Given the description of an element on the screen output the (x, y) to click on. 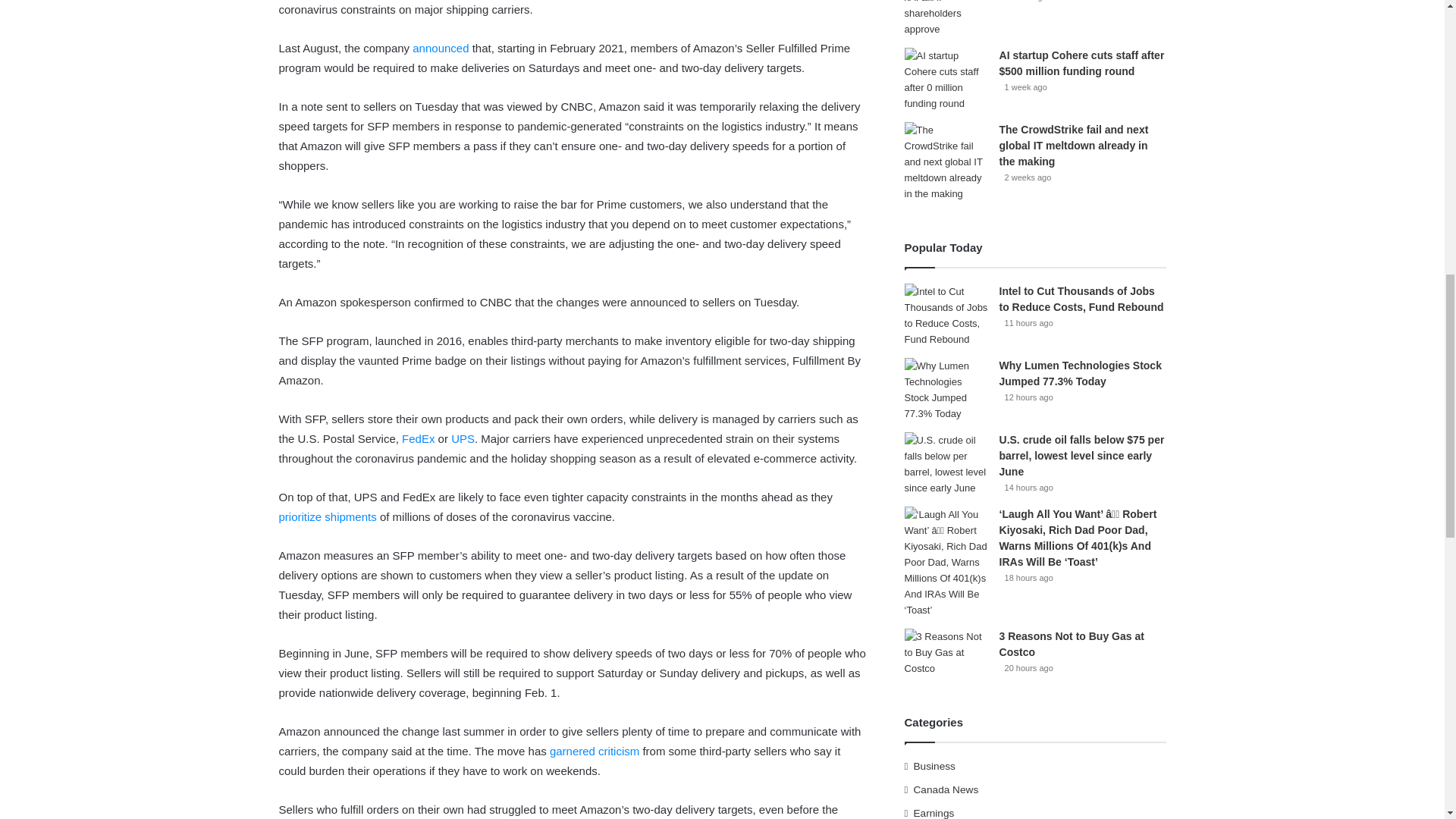
prioritize shipments (328, 516)
UPS (462, 438)
AI startup Cohere cuts staff after 0 million funding round (946, 79)
garnered criticism (594, 750)
announced (440, 47)
FedEx (417, 438)
